Given the description of an element on the screen output the (x, y) to click on. 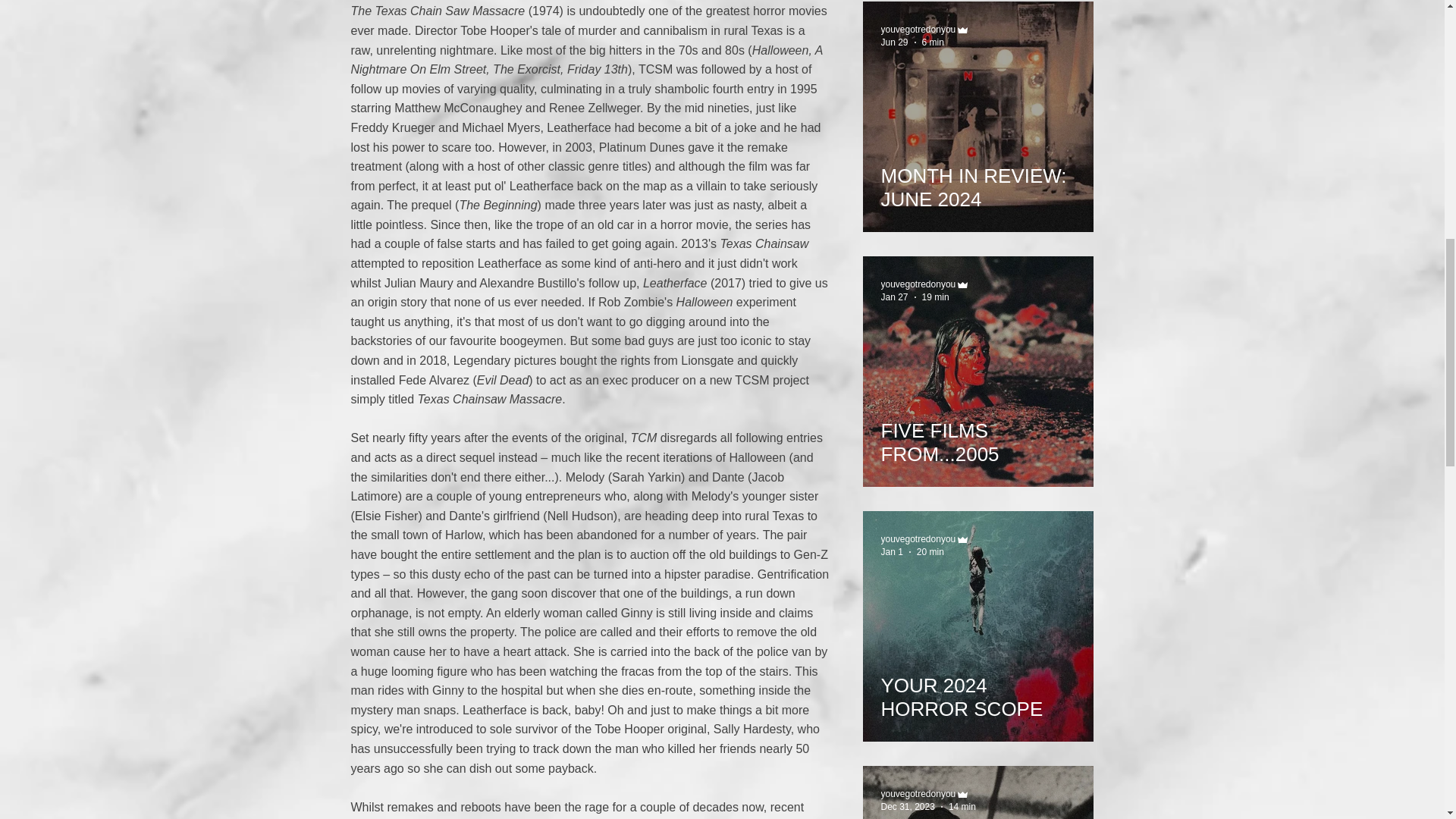
20 min (930, 552)
MONTH IN REVIEW: JUNE 2024 (977, 180)
Jan 27 (894, 296)
youvegotredonyou (918, 29)
6 min (932, 41)
Jan 1 (891, 552)
YOUR 2024 HORROR SCOPE (977, 690)
youvegotredonyou (918, 538)
Dec 31, 2023 (907, 806)
14 min (962, 806)
FIVE FILMS FROM...2005 (977, 435)
youvegotredonyou (918, 284)
youvegotredonyou (918, 793)
19 min (935, 296)
Jun 29 (894, 41)
